Given the description of an element on the screen output the (x, y) to click on. 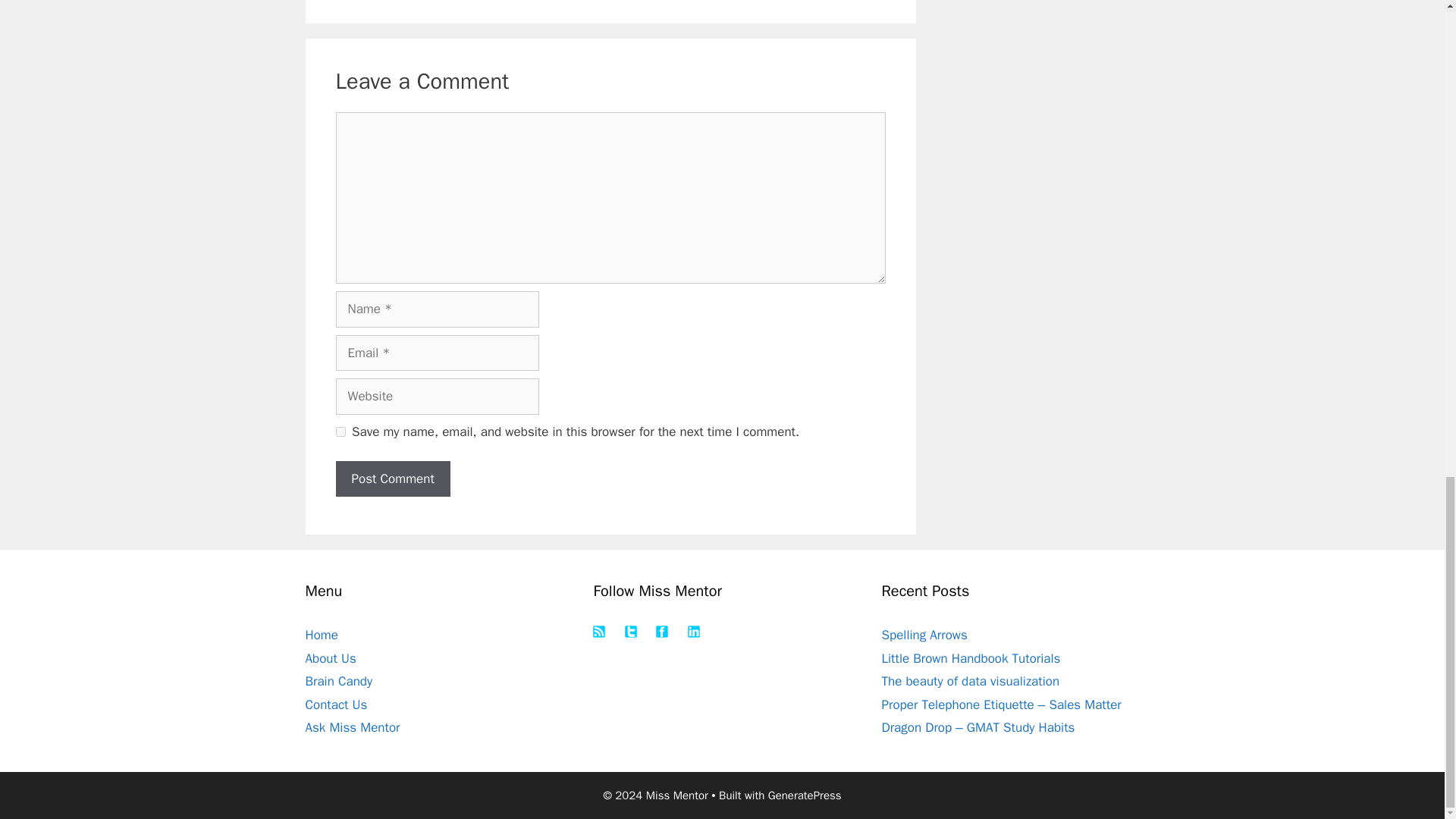
About Us (329, 658)
Brain Candy (338, 681)
Contact Us (335, 704)
Post Comment (391, 479)
yes (339, 431)
Ask Miss Mentor (351, 727)
facebook (662, 631)
Little Brown Handbook Tutorials (969, 658)
rss (598, 631)
Post Comment (391, 479)
